Given the description of an element on the screen output the (x, y) to click on. 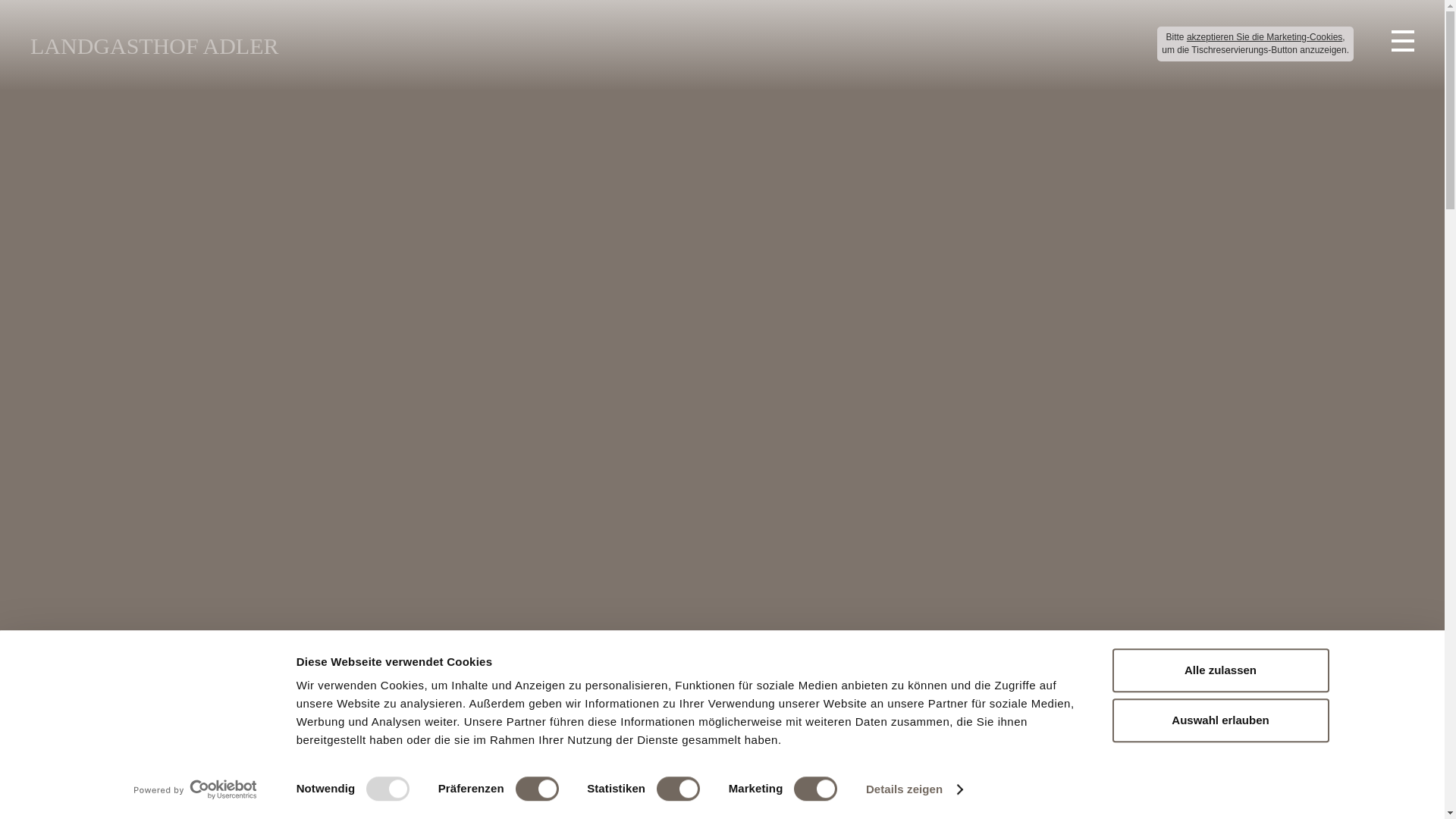
Details zeigen Element type: text (914, 789)
Auswahl erlauben Element type: text (1219, 720)
LANDGASTHOF ADLER Element type: text (154, 46)
akzeptieren Sie die Marketing-Cookies Element type: text (1264, 37)
Alle zulassen Element type: text (1219, 670)
